Given the description of an element on the screen output the (x, y) to click on. 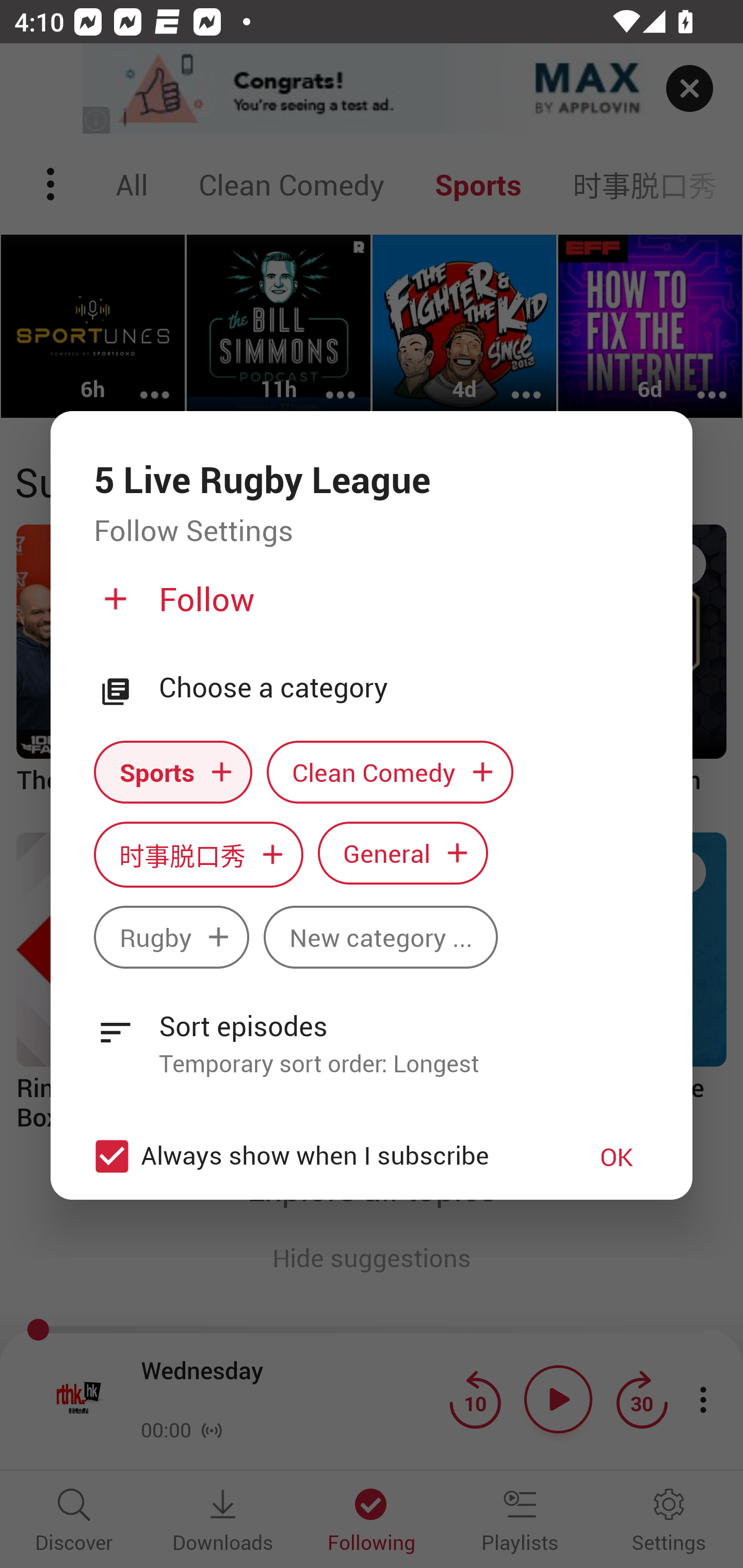
Follow (369, 606)
Choose a category (404, 688)
Sports (172, 771)
Clean Comedy (389, 771)
时事脱口秀 (198, 854)
General (403, 852)
Rugby (170, 937)
New category ... (380, 937)
Sort episodes Temporary sort order: Longest (371, 1033)
OK (616, 1156)
Always show when I subscribe (320, 1156)
